Given the description of an element on the screen output the (x, y) to click on. 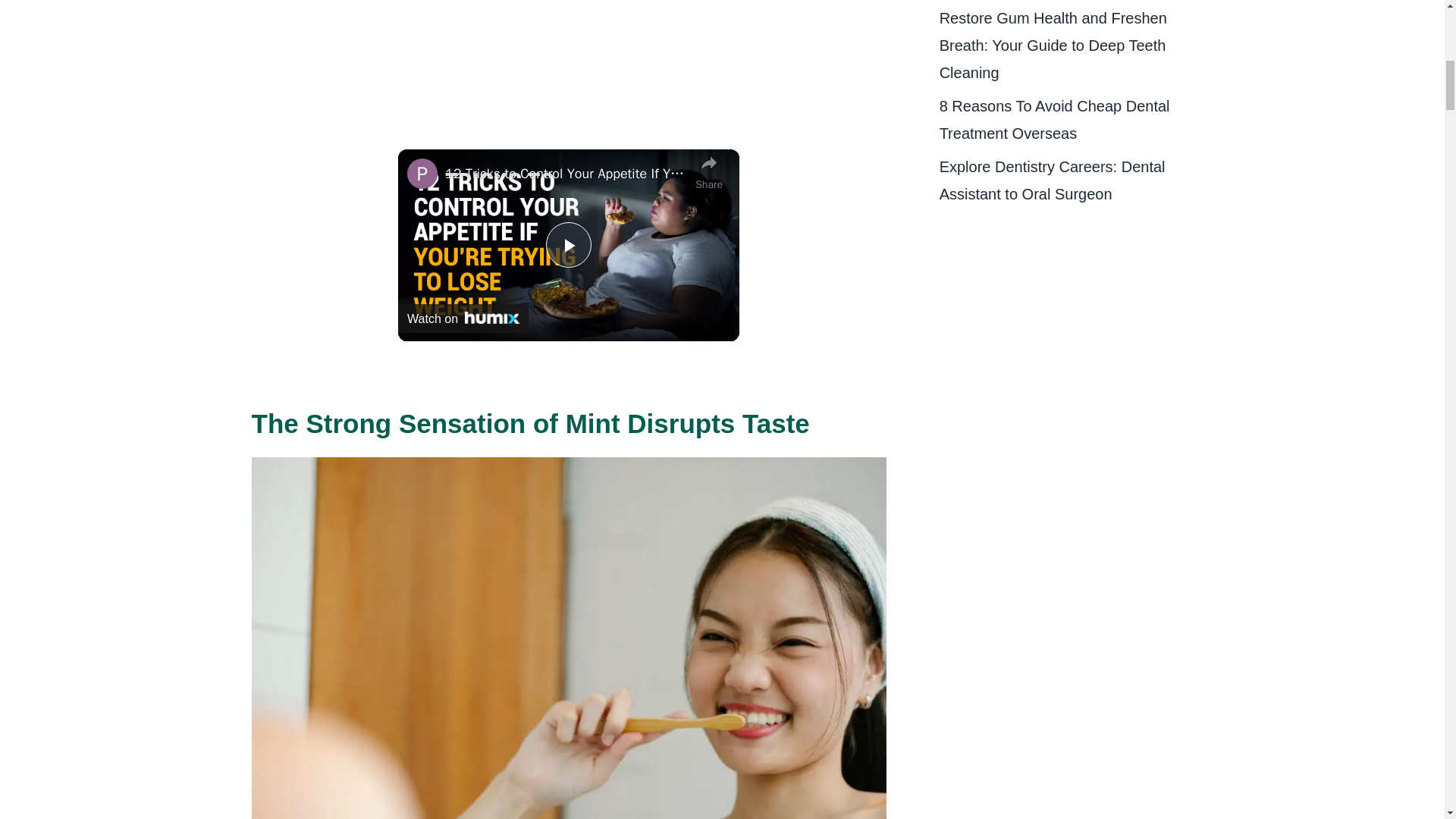
Play Video (568, 244)
Why Wait 30 Minutes To EAT or DRINK After Brushing Teeth? (524, 13)
Watch on (462, 317)
Play Video (568, 244)
